Given the description of an element on the screen output the (x, y) to click on. 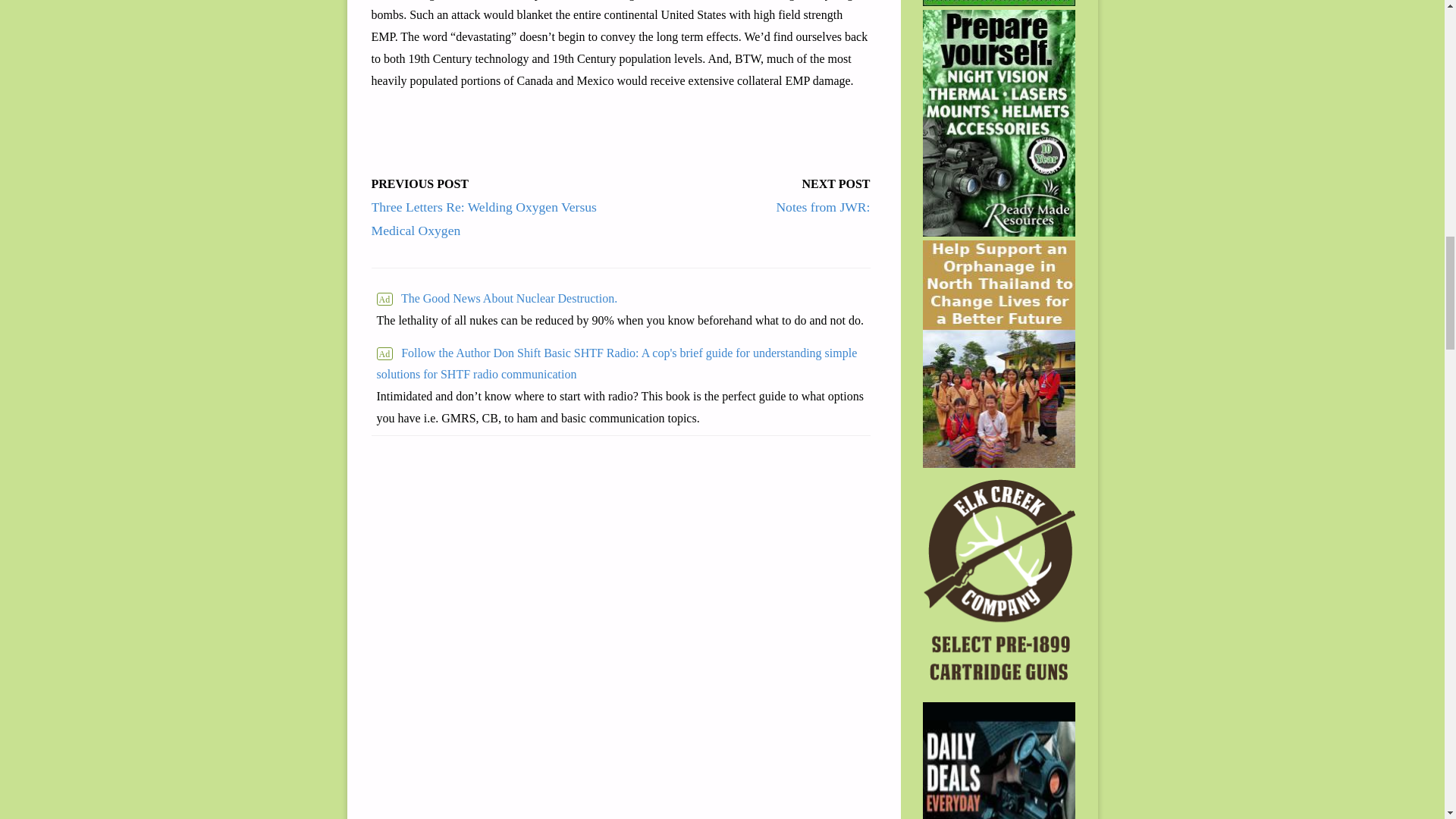
Ready Made Resources (999, 2)
Basic SHTF Radio (619, 364)
From Physicians for Civil Defense and KI4U (619, 299)
